Given the description of an element on the screen output the (x, y) to click on. 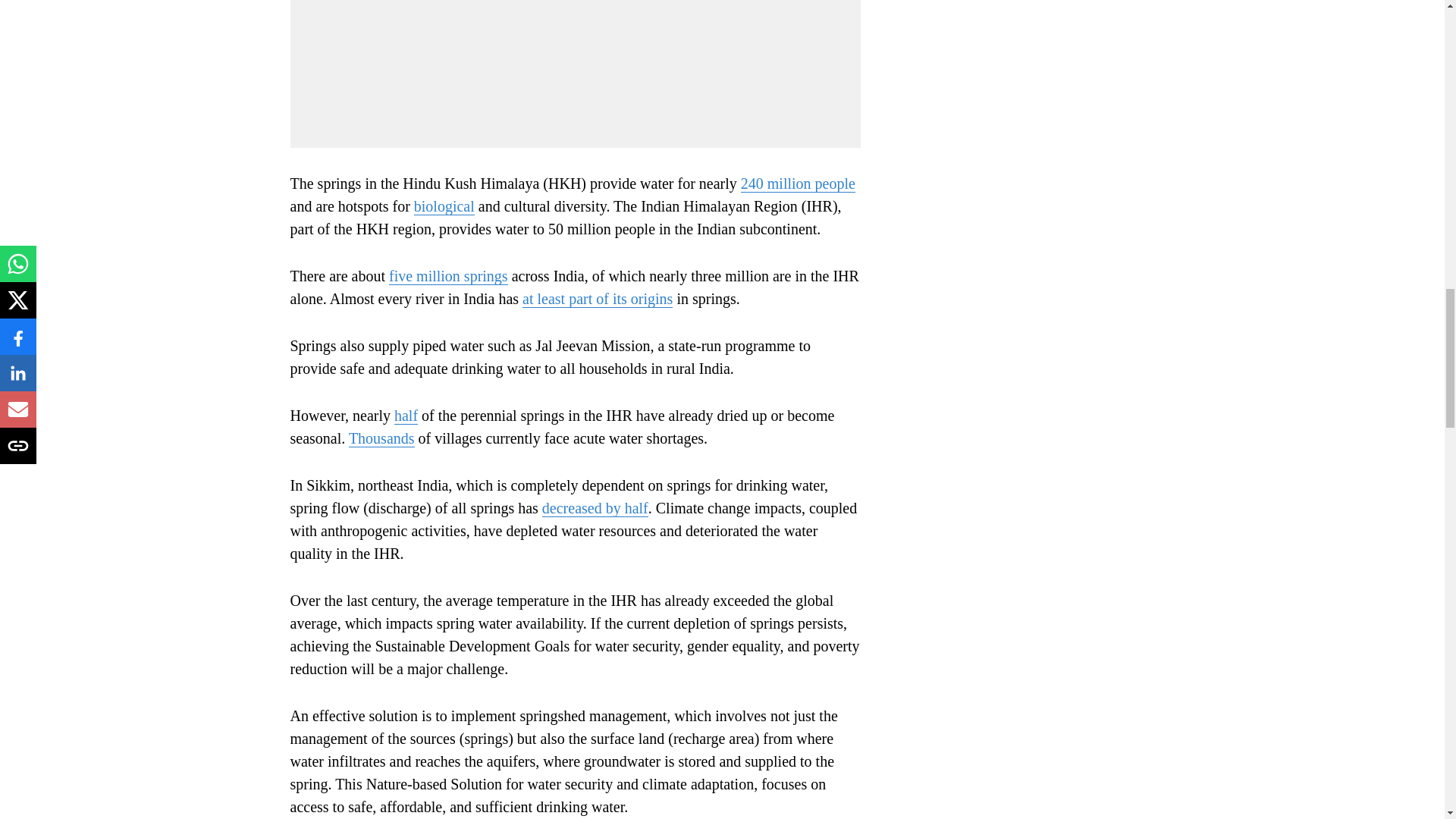
five million springs (448, 276)
at least part of its origins (597, 298)
240 million people (798, 183)
biological (443, 206)
